Given the description of an element on the screen output the (x, y) to click on. 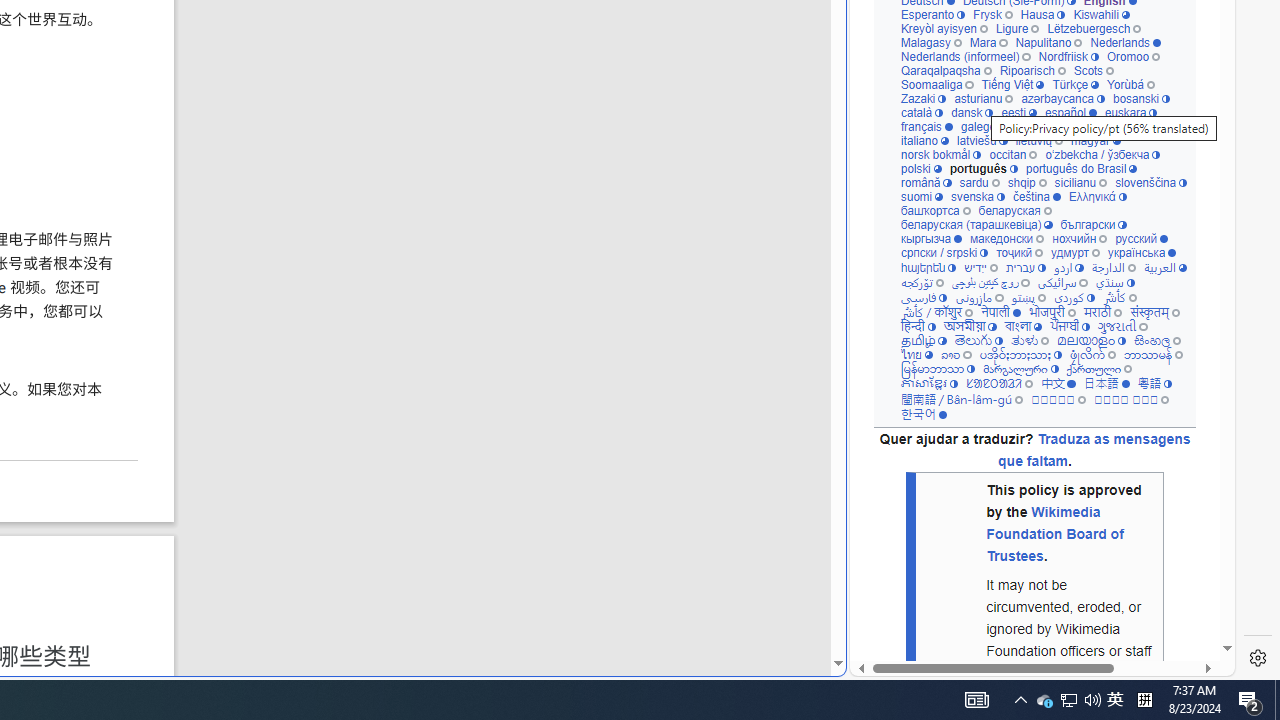
polski (920, 168)
Mara (988, 42)
Frysk (992, 14)
